Given the description of an element on the screen output the (x, y) to click on. 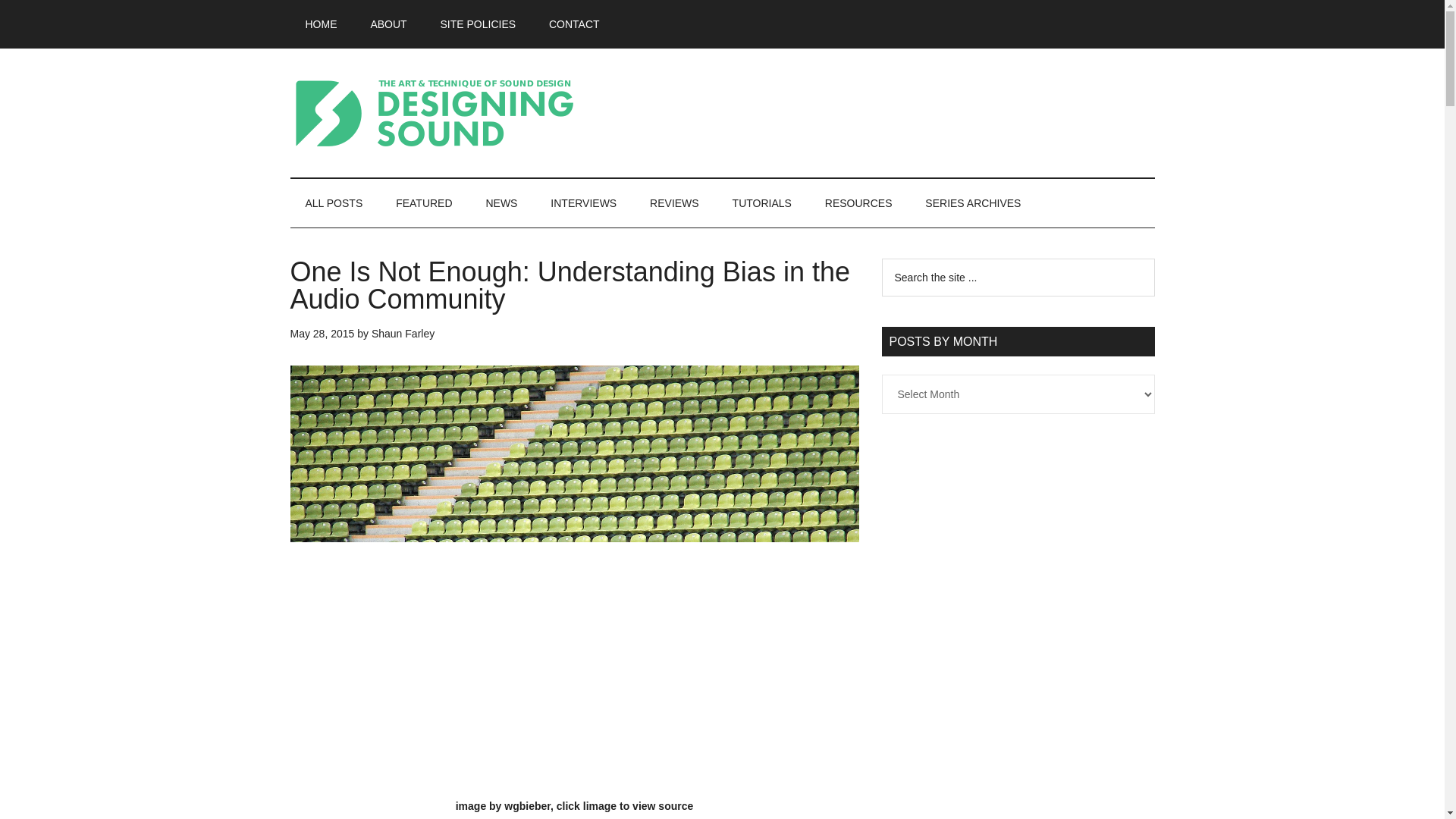
FEATURED (423, 203)
SERIES ARCHIVES (972, 203)
NEWS (501, 203)
ALL POSTS (333, 203)
INTERVIEWS (583, 203)
REVIEWS (674, 203)
TUTORIALS (761, 203)
SITE POLICIES (478, 24)
RESOURCES (858, 203)
Shaun Farley (402, 333)
